Given the description of an element on the screen output the (x, y) to click on. 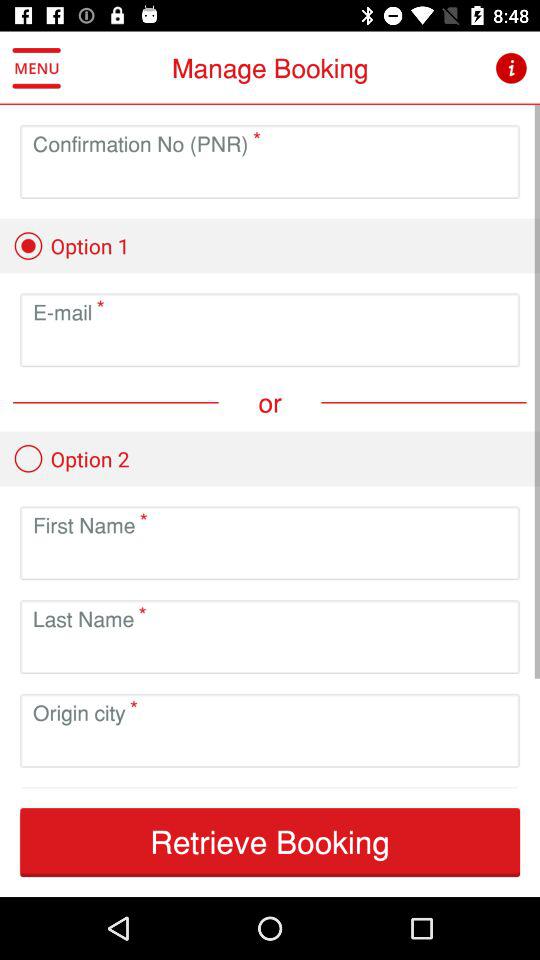
enter last name (270, 652)
